Given the description of an element on the screen output the (x, y) to click on. 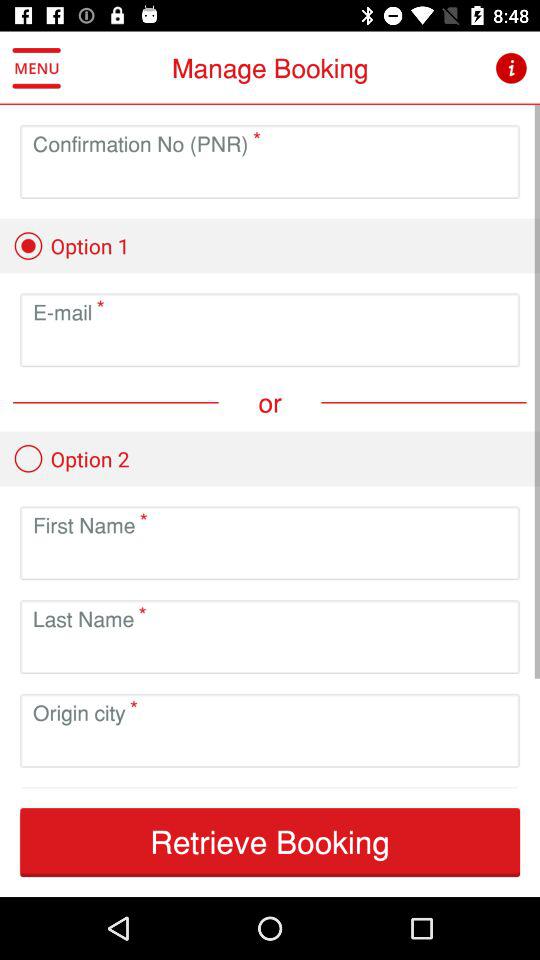
enter last name (270, 652)
